Given the description of an element on the screen output the (x, y) to click on. 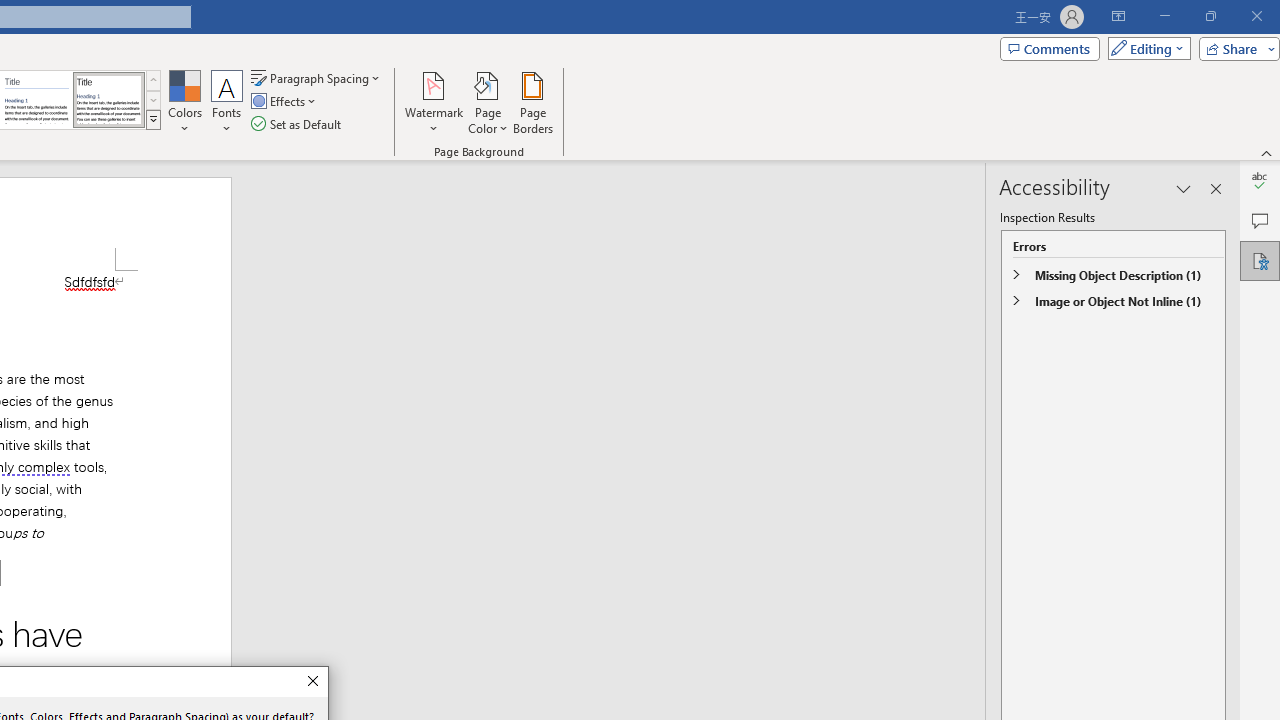
Page Borders... (532, 102)
Style Set (153, 120)
Watermark (434, 102)
